Given the description of an element on the screen output the (x, y) to click on. 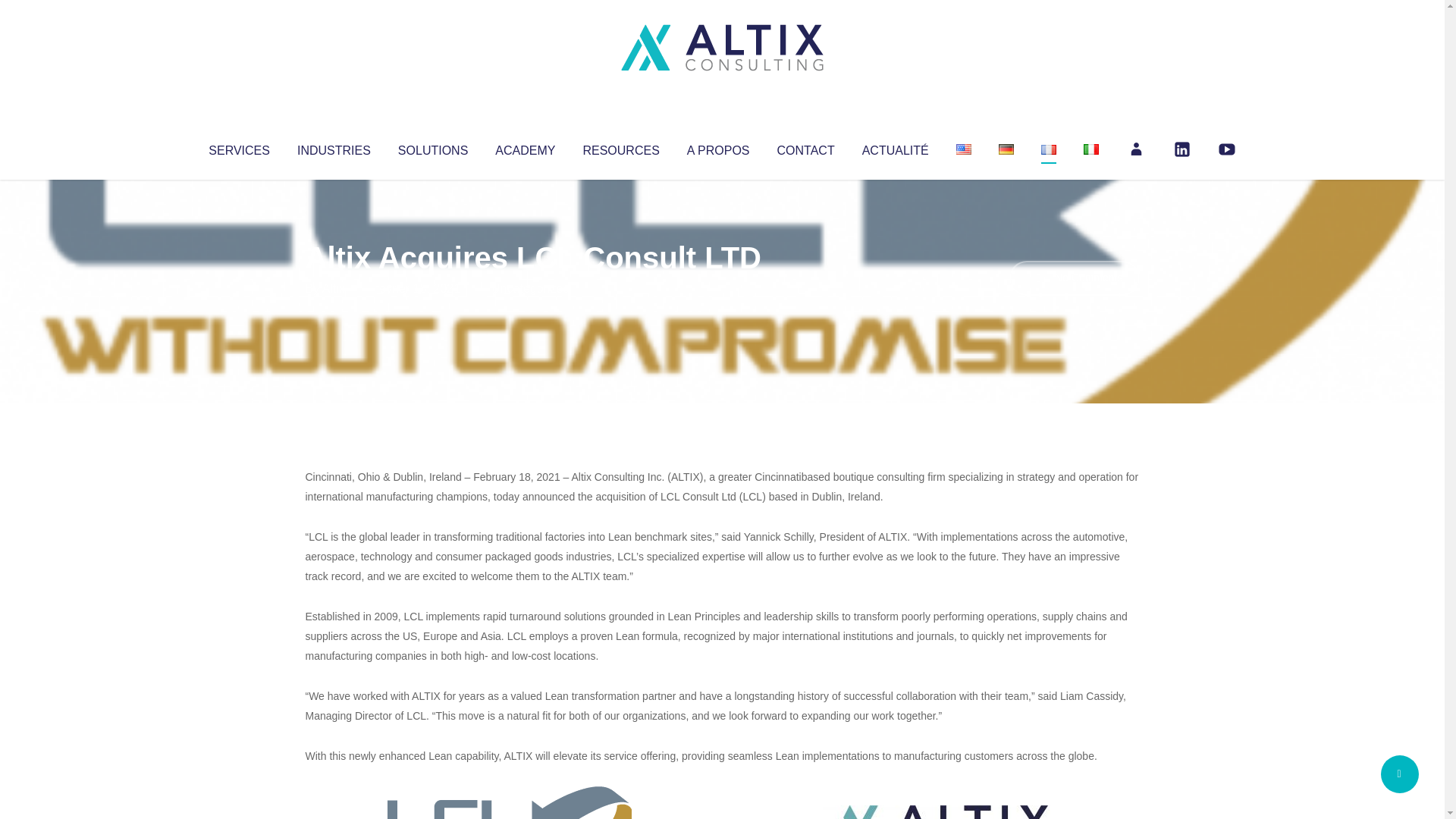
ACADEMY (524, 146)
SERVICES (238, 146)
Uncategorized (530, 287)
A PROPOS (718, 146)
Articles par Altix (333, 287)
No Comments (1073, 278)
RESOURCES (620, 146)
SOLUTIONS (432, 146)
INDUSTRIES (334, 146)
Altix (333, 287)
